Given the description of an element on the screen output the (x, y) to click on. 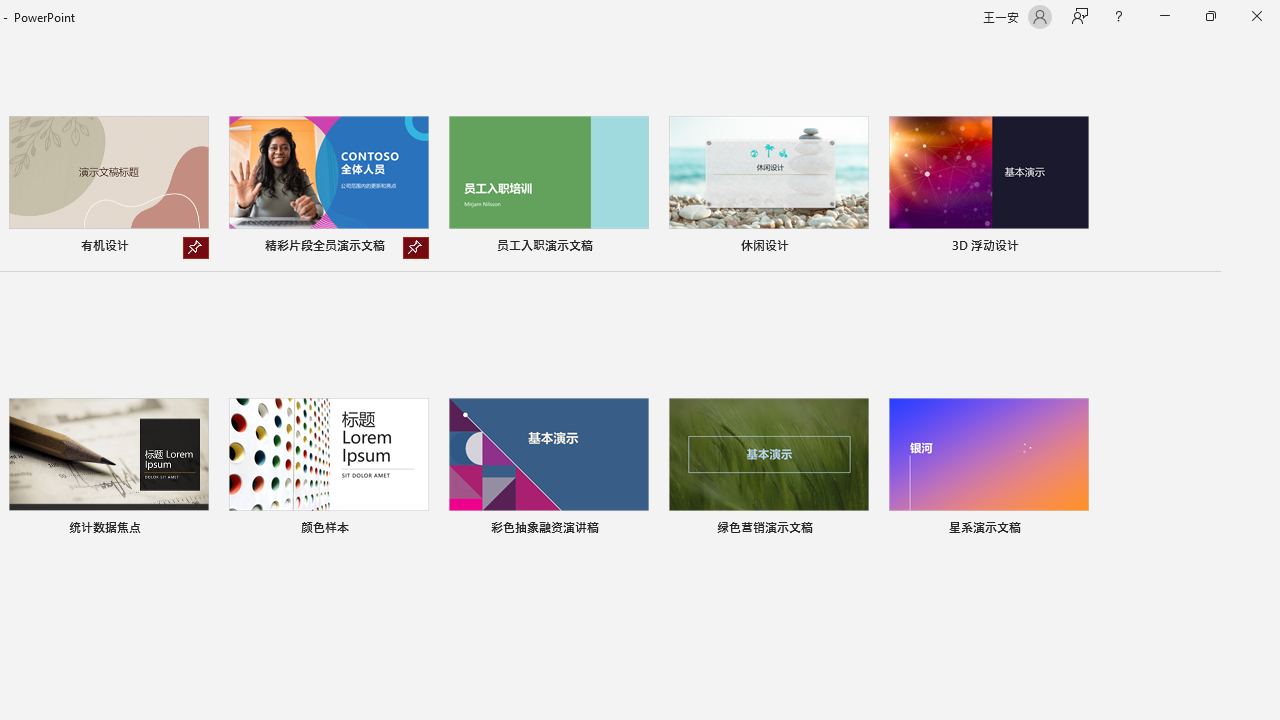
Unpin from list (415, 247)
